Given the description of an element on the screen output the (x, y) to click on. 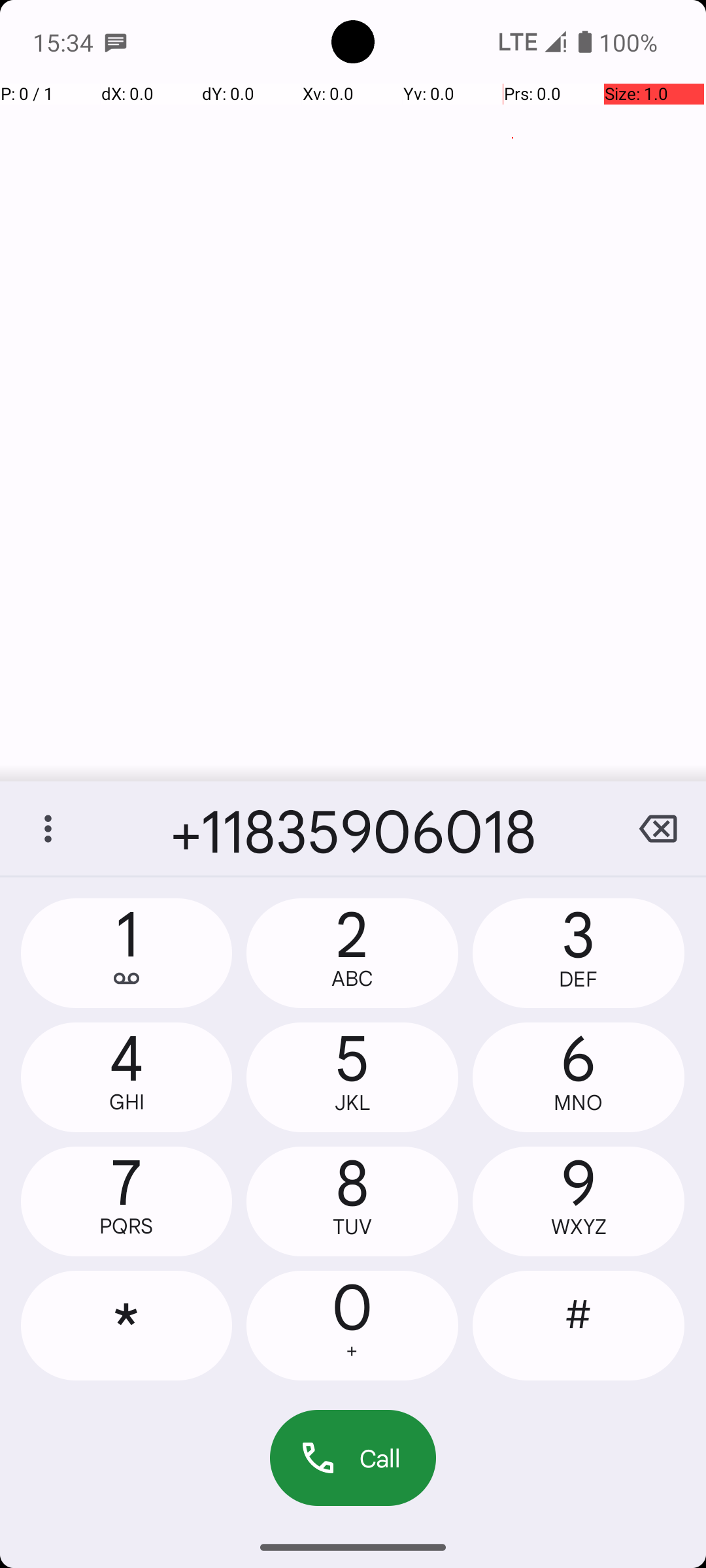
+11835906018 Element type: android.widget.EditText (352, 828)
